Given the description of an element on the screen output the (x, y) to click on. 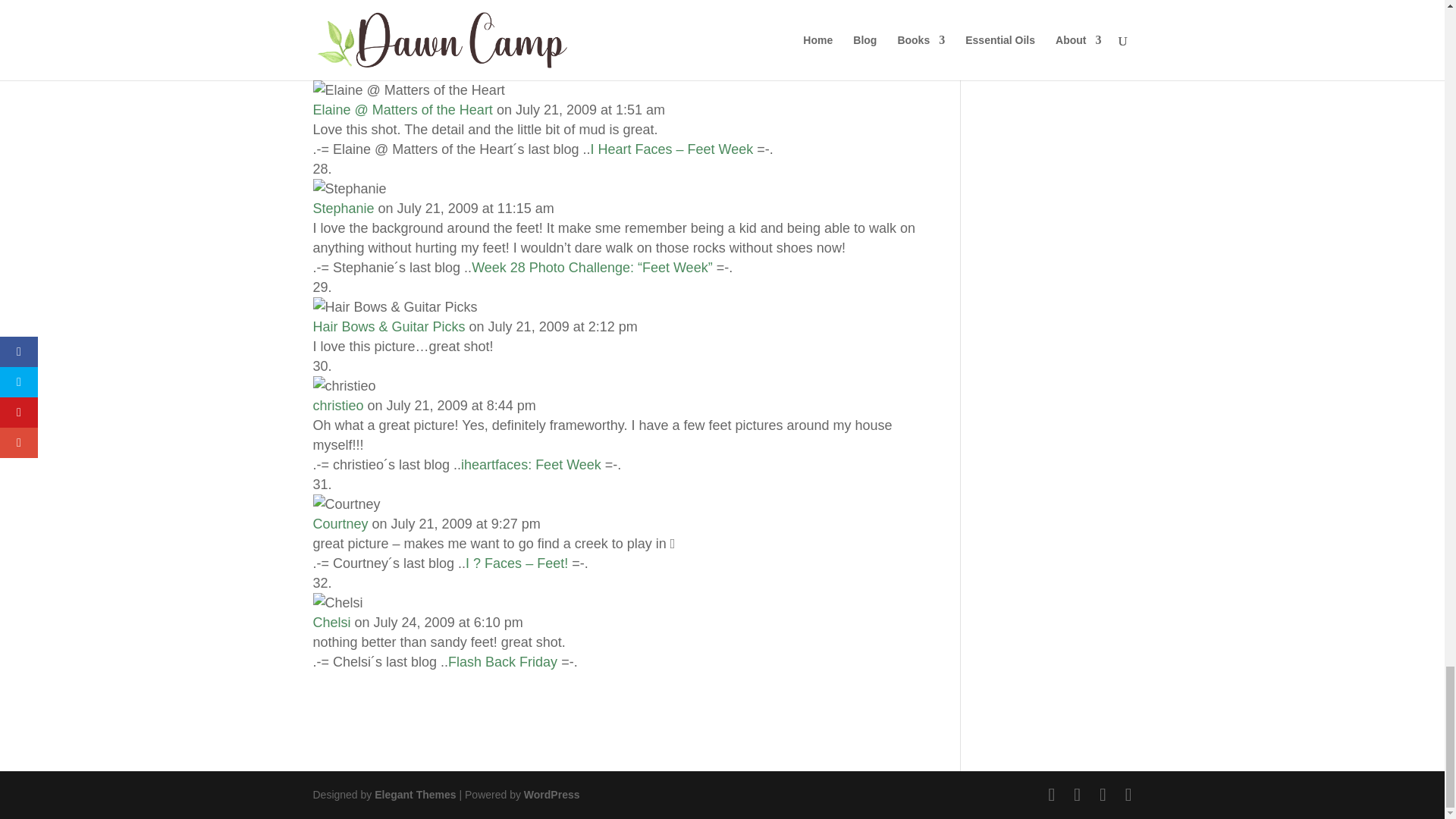
Premium WordPress Themes (414, 794)
